Given the description of an element on the screen output the (x, y) to click on. 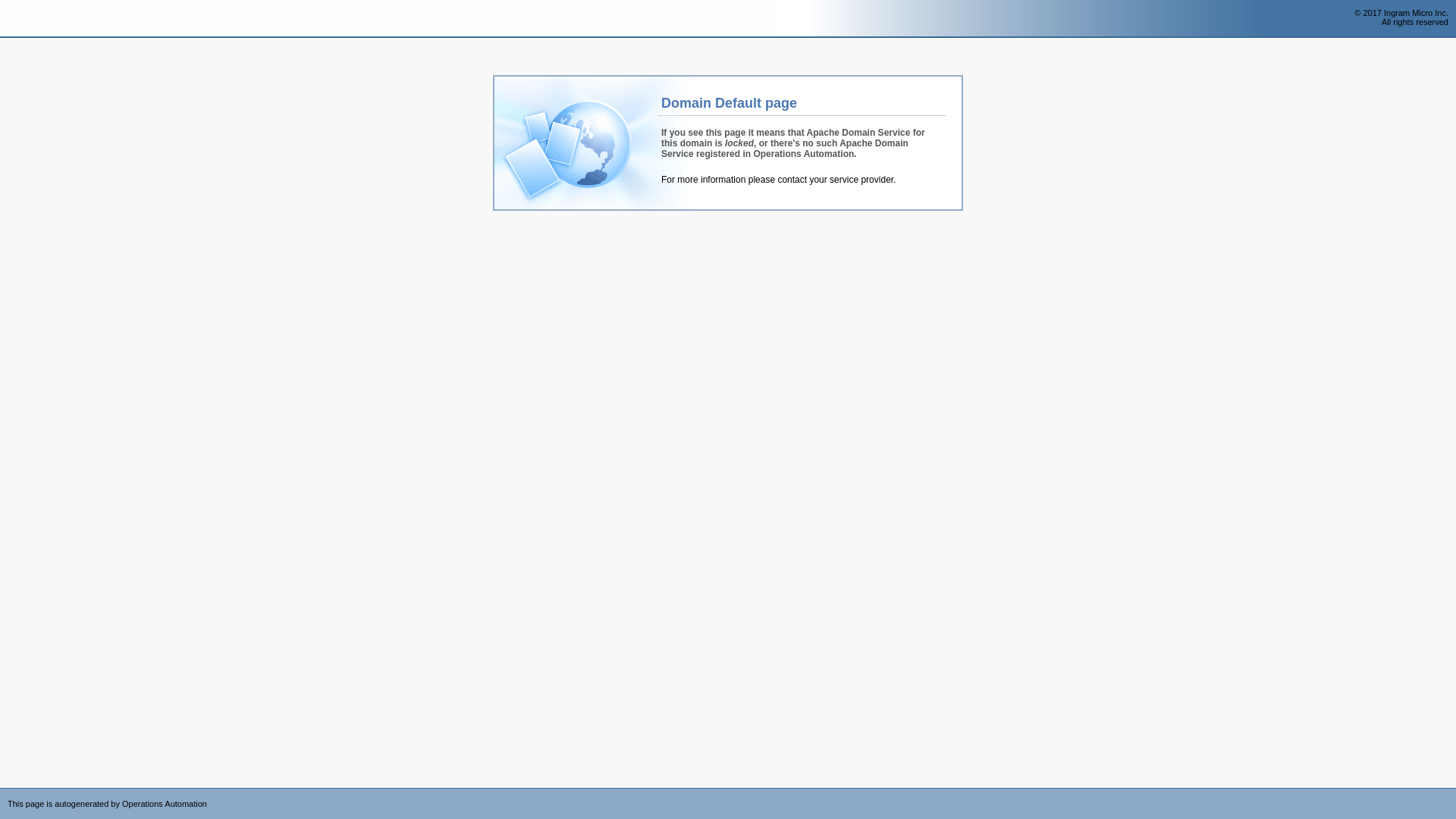
Powered by CloudBlue Commerce Element type: hover (1447, 792)
Operations Automation Element type: text (39, 18)
